Given the description of an element on the screen output the (x, y) to click on. 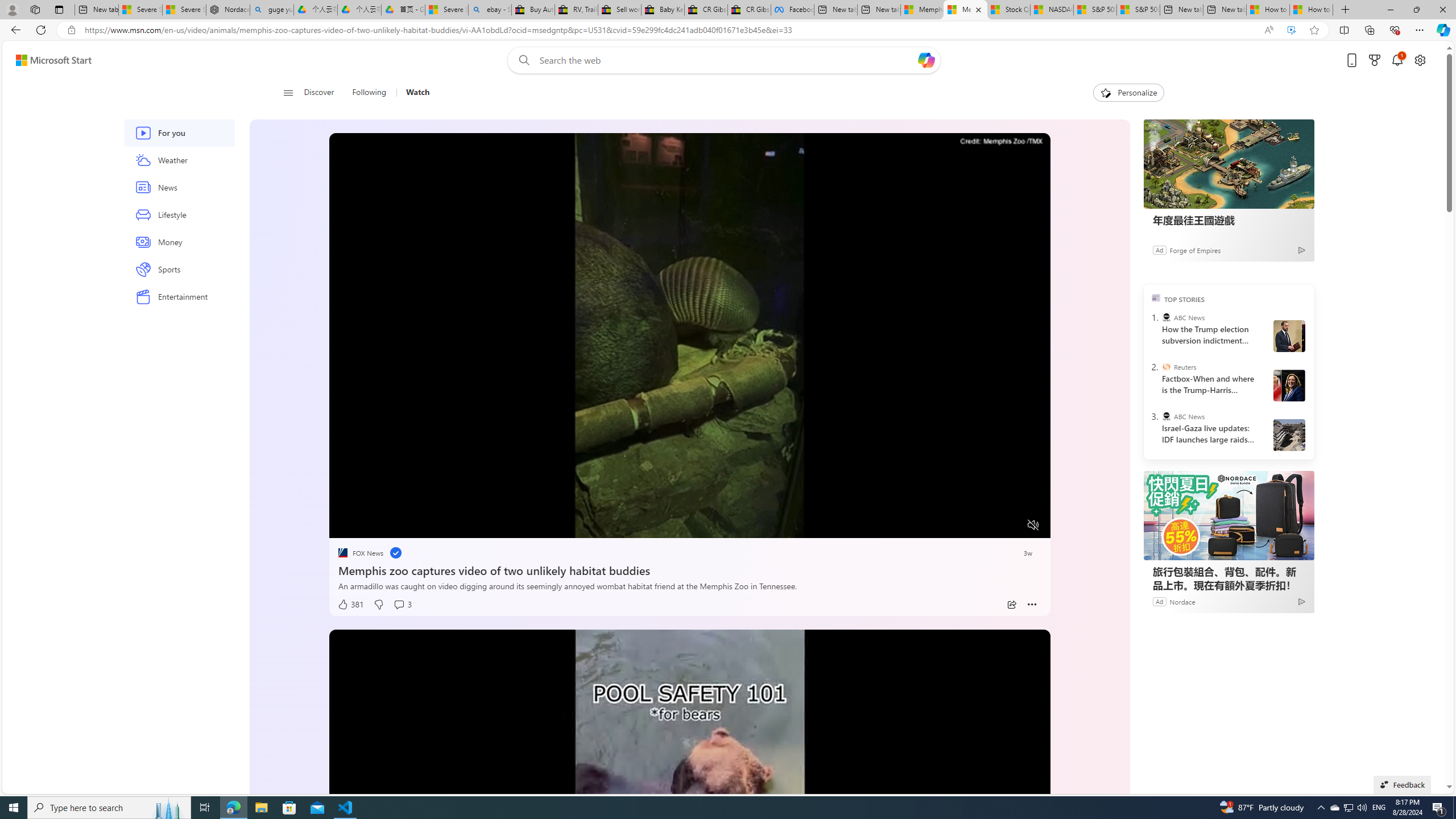
Skip to footer (46, 59)
How to Use a Monitor With Your Closed Laptop (1311, 9)
Share (1010, 604)
Quality Settings (964, 525)
